Given the description of an element on the screen output the (x, y) to click on. 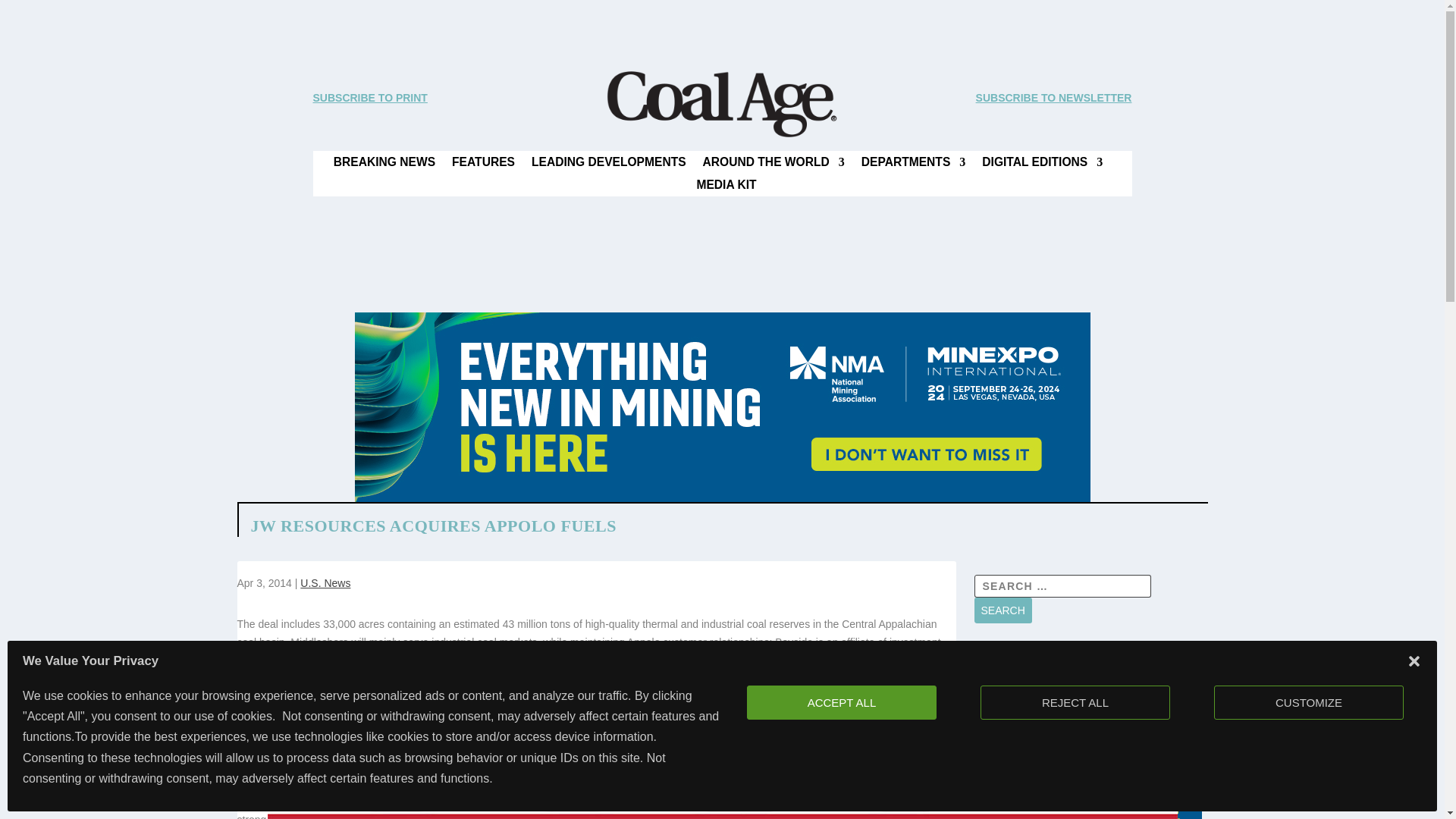
REJECT ALL (1074, 702)
SUBSCRIBE TO PRINT (369, 97)
LEADING DEVELOPMENTS (608, 165)
SUBSCRIBE TO NEWSLETTER (1053, 97)
FEATURES (483, 165)
Search (1002, 610)
BREAKING NEWS (384, 165)
DEPARTMENTS (913, 165)
Coal Age logo (721, 104)
ACCEPT ALL (841, 702)
CUSTOMIZE (1308, 702)
Search (1002, 610)
AROUND THE WORLD (773, 165)
